Given the description of an element on the screen output the (x, y) to click on. 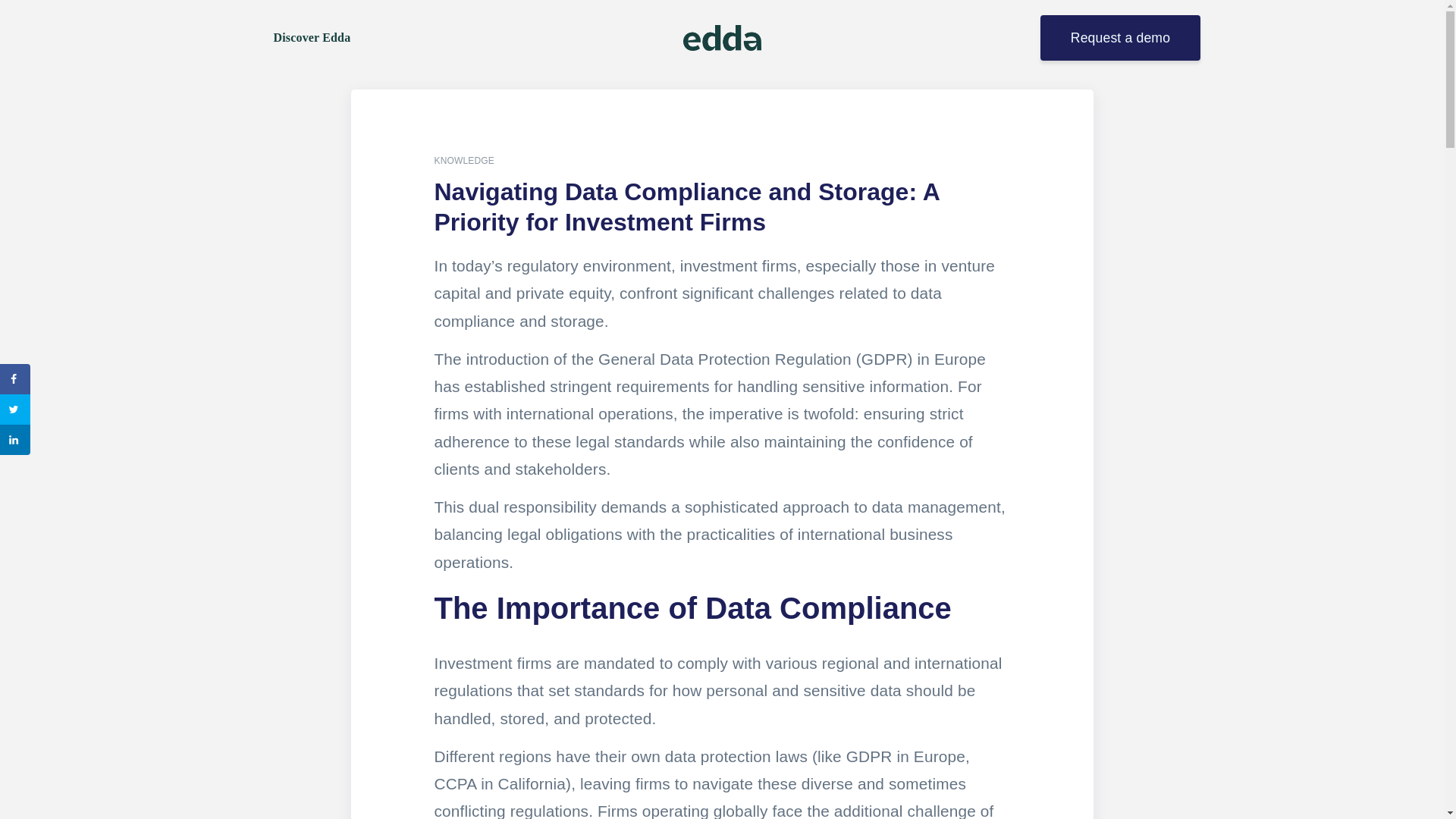
EDDA BLOG (295, 7)
KNOWLEDGE (463, 160)
Share on LinkedIn (15, 440)
KNOWLEDGE (373, 7)
Request a demo (1120, 37)
Discover Edda (311, 37)
Share on Twitter (15, 409)
Share on Facebook (15, 378)
